Given the description of an element on the screen output the (x, y) to click on. 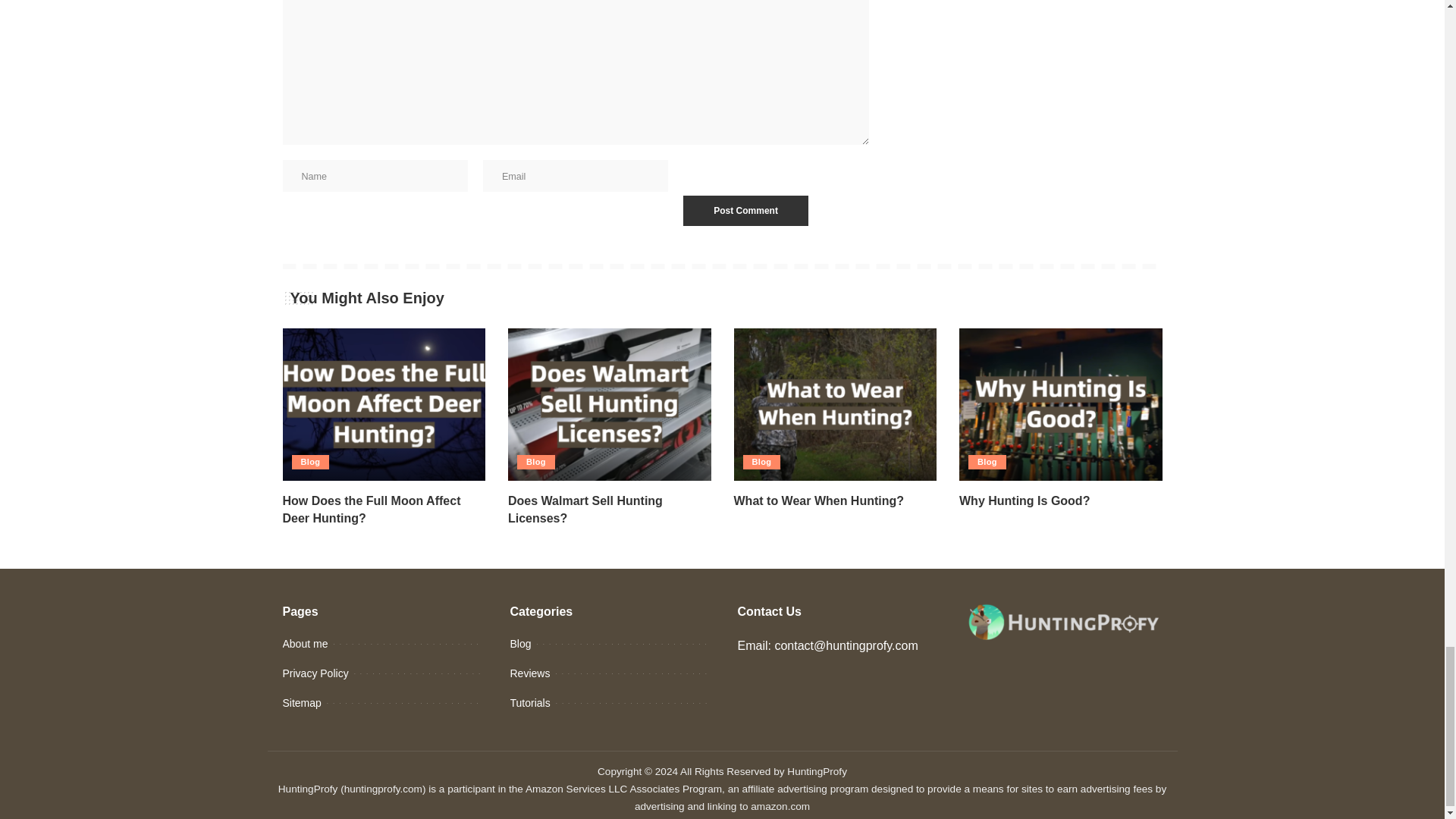
Post Comment (745, 210)
Post Comment (745, 210)
Blog (310, 462)
